Given the description of an element on the screen output the (x, y) to click on. 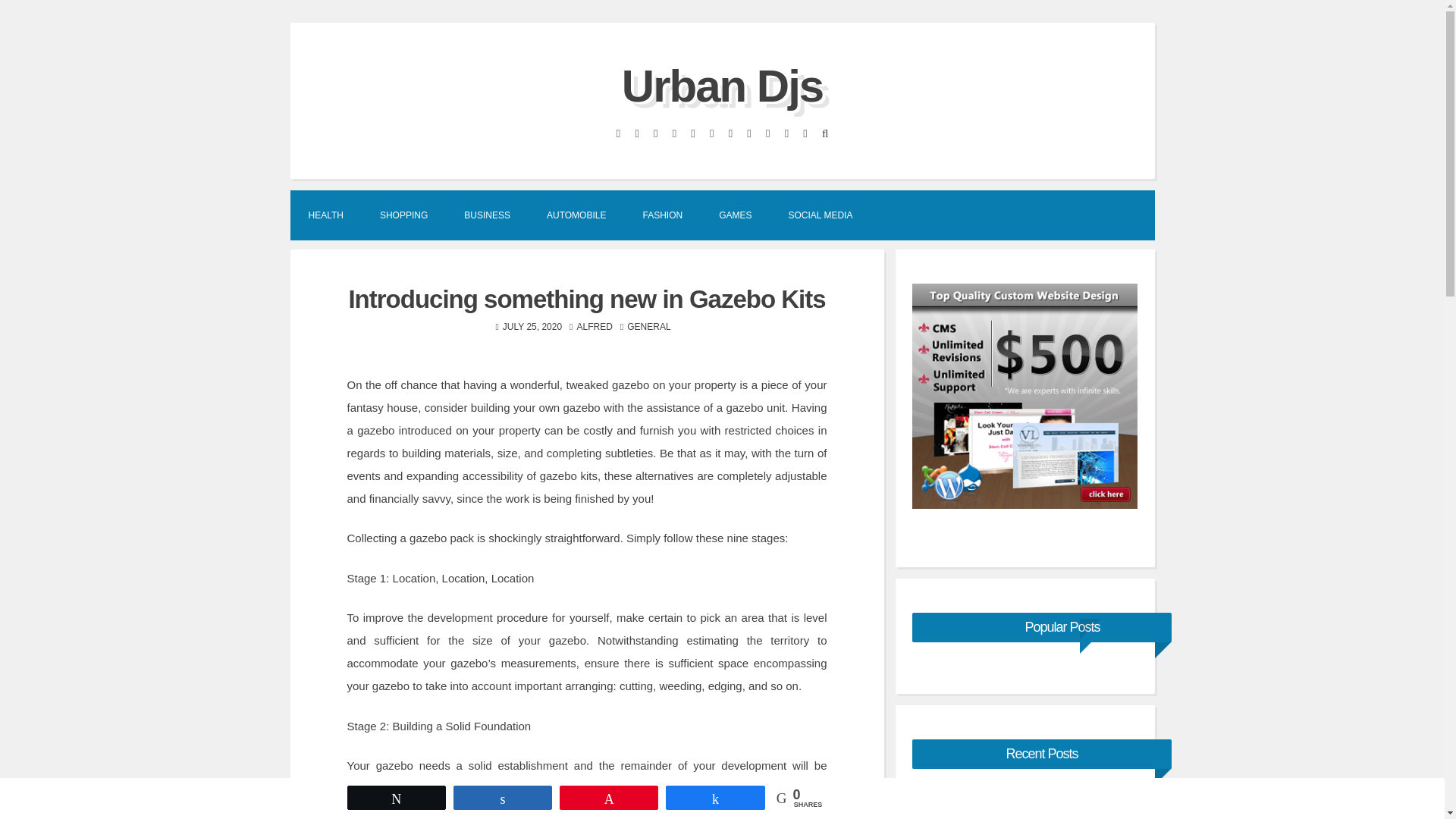
SOCIAL MEDIA (820, 214)
Urban Djs (721, 85)
GENERAL (648, 326)
SHOPPING (403, 214)
AUTOMOBILE (576, 214)
ALFRED (593, 326)
HEALTH (325, 214)
GAMES (735, 214)
FASHION (662, 214)
BUSINESS (486, 214)
